Given the description of an element on the screen output the (x, y) to click on. 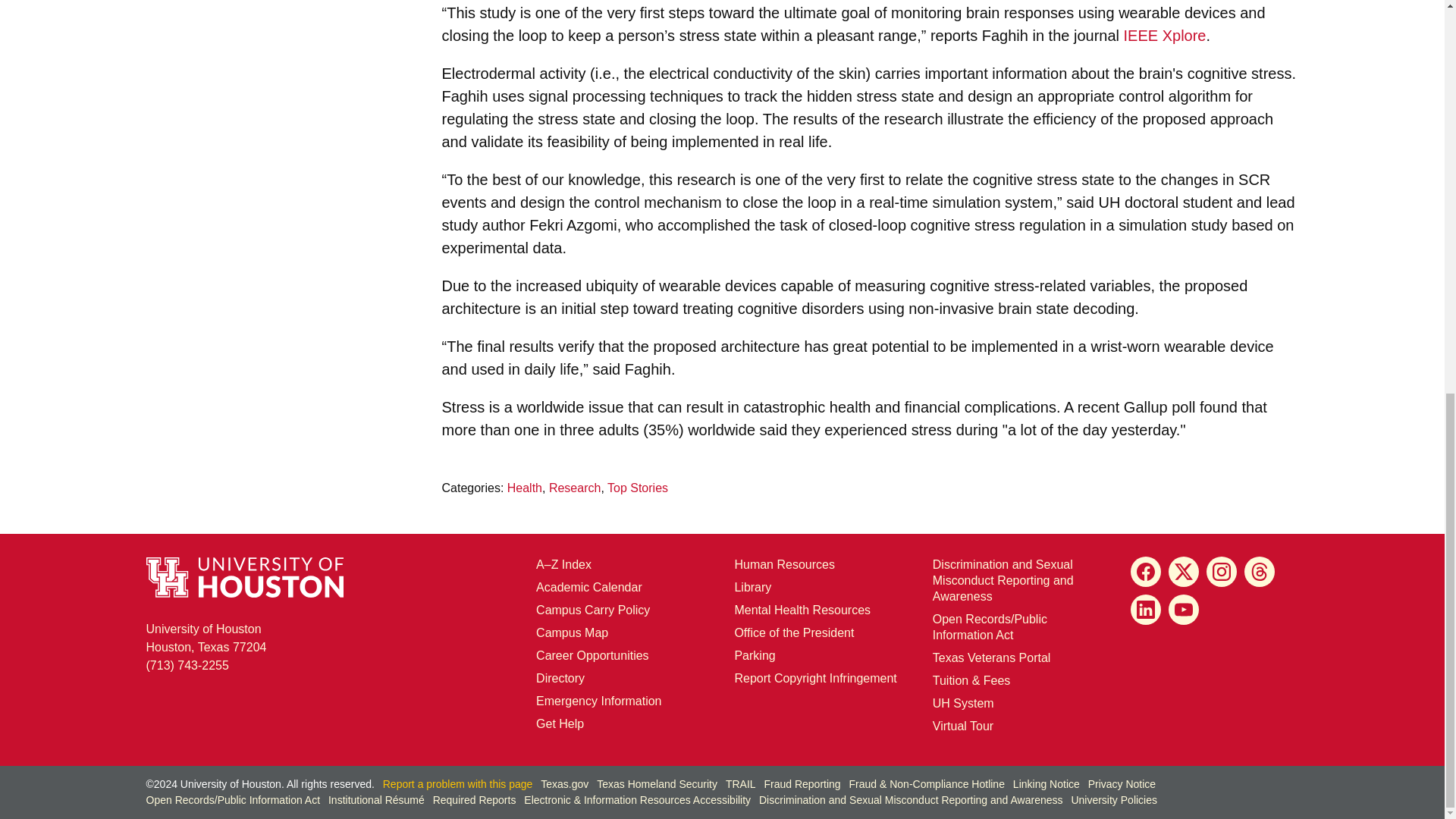
Health (523, 487)
IEEE Xplore (205, 637)
Threads (1165, 35)
YouTube (1259, 571)
Top Stories (1183, 609)
X (637, 487)
Instagram (1183, 571)
LinkedIn (1221, 571)
Facebook (1145, 609)
Research (1145, 571)
